Given the description of an element on the screen output the (x, y) to click on. 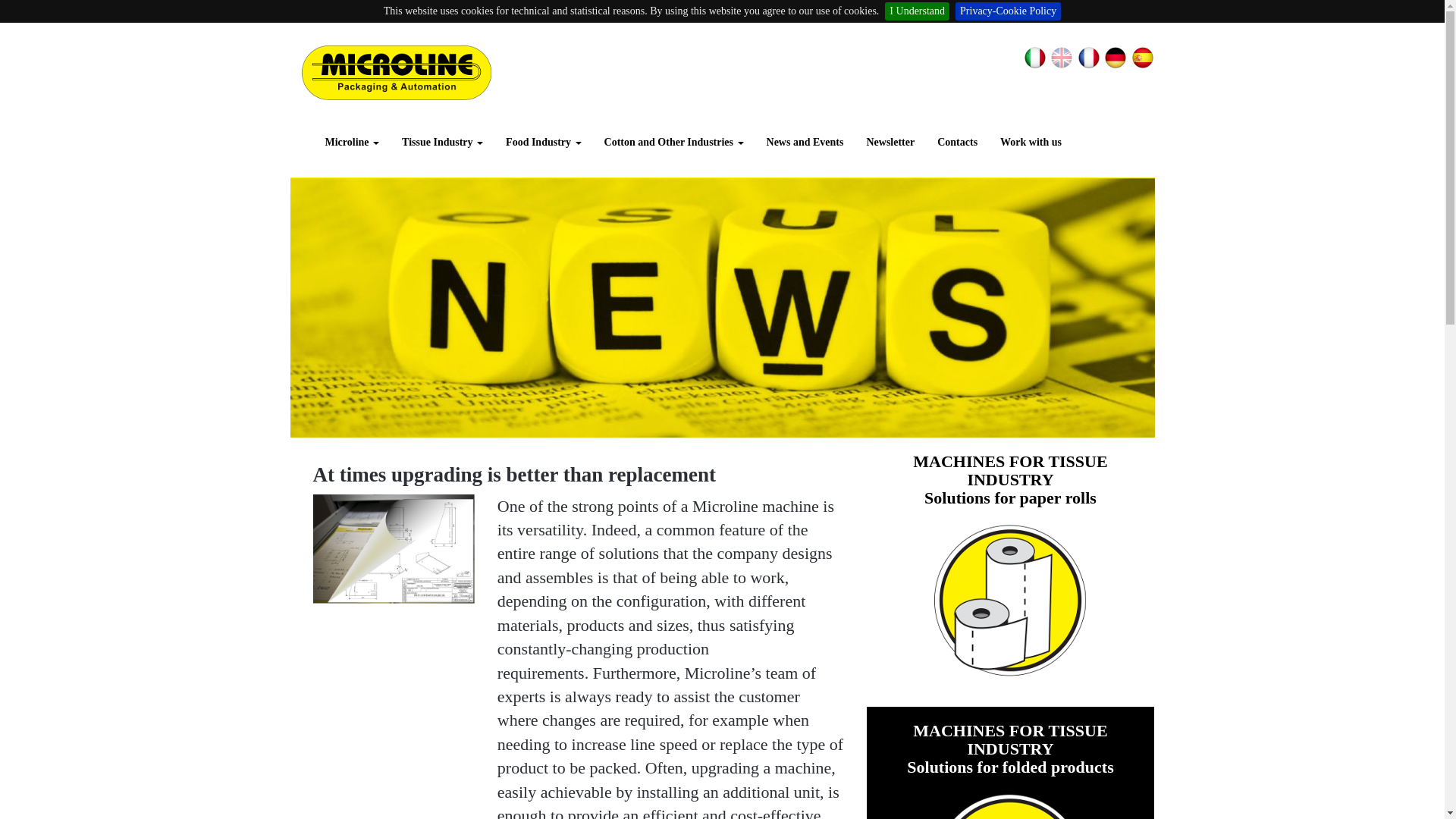
Microline (352, 142)
Tissue Industry (442, 142)
Privacy-Cookie Policy (1008, 11)
I Understand (917, 11)
